Given the description of an element on the screen output the (x, y) to click on. 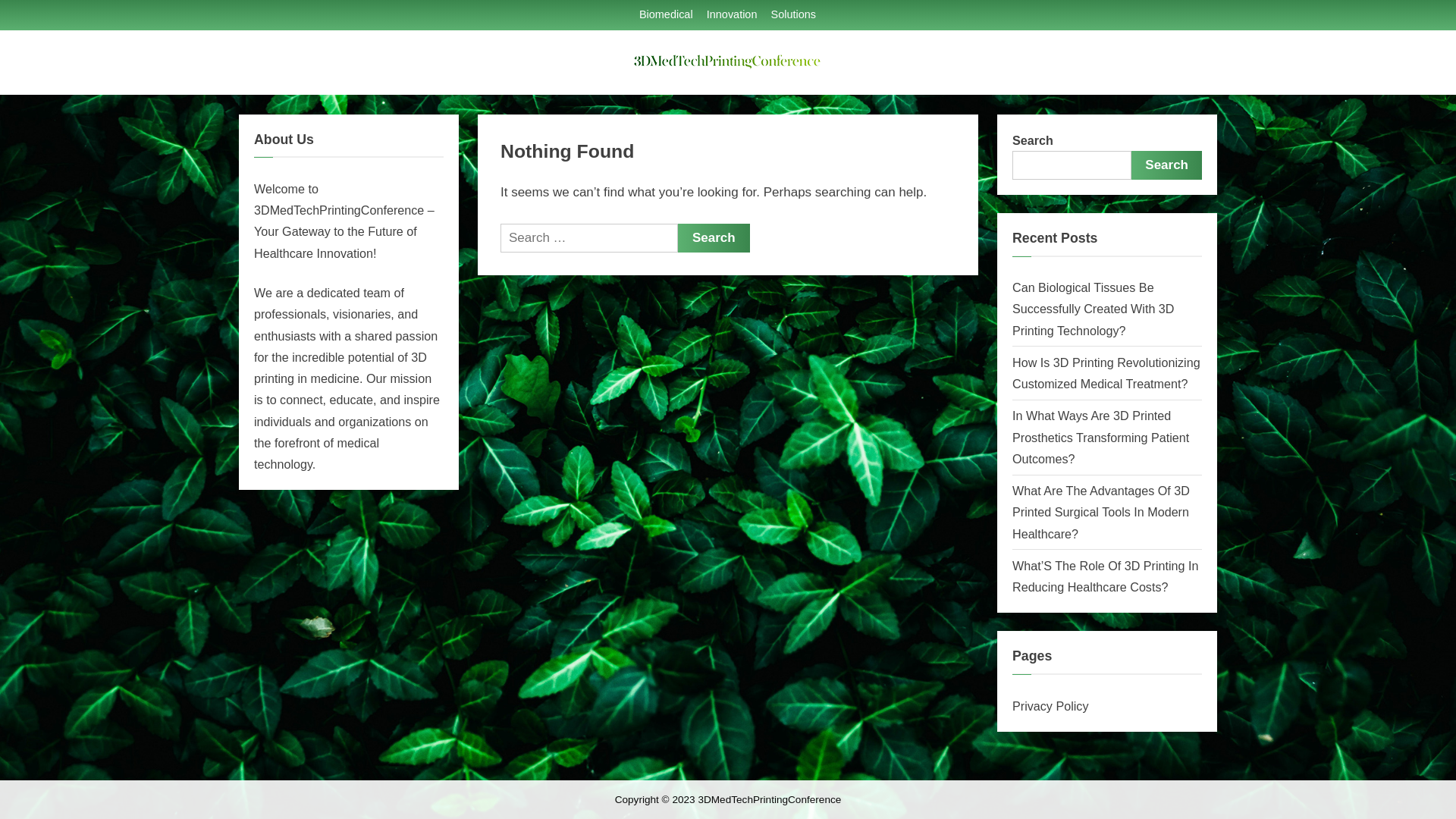
Biomedical Element type: text (666, 14)
Solutions Element type: text (793, 14)
Privacy Policy Element type: text (1050, 705)
Search Element type: text (1166, 164)
Innovation Element type: text (731, 14)
3DMedTechPrintingConference Element type: text (871, 84)
Search Element type: text (713, 237)
